Given the description of an element on the screen output the (x, y) to click on. 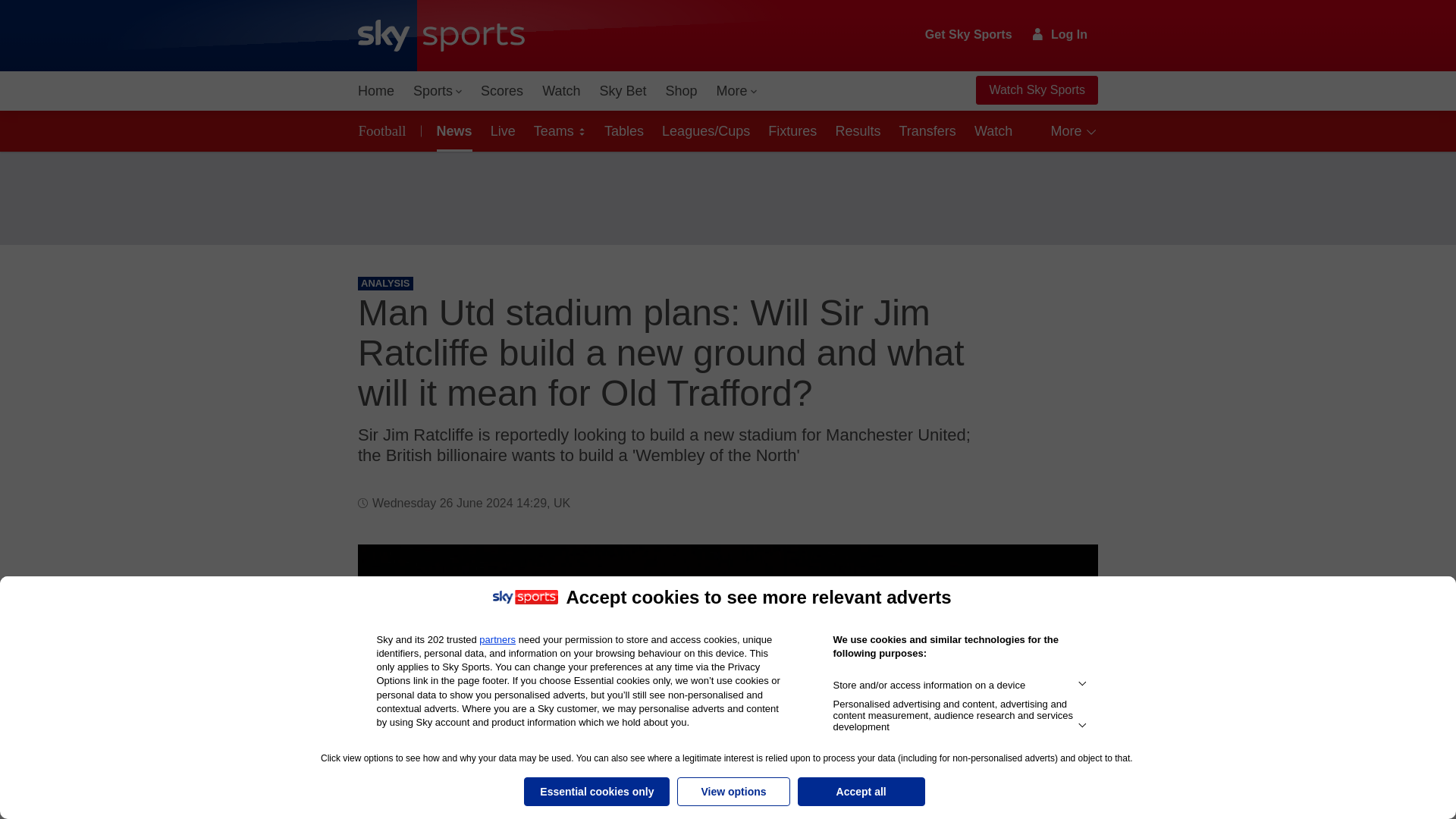
Shop (681, 91)
News (451, 130)
Home (375, 91)
Share (1067, 574)
Sports (437, 91)
Football (385, 130)
Log In (1060, 33)
Watch Sky Sports (1036, 90)
More (736, 91)
Sky Bet (622, 91)
Get Sky Sports (968, 34)
Watch (561, 91)
Scores (502, 91)
